Given the description of an element on the screen output the (x, y) to click on. 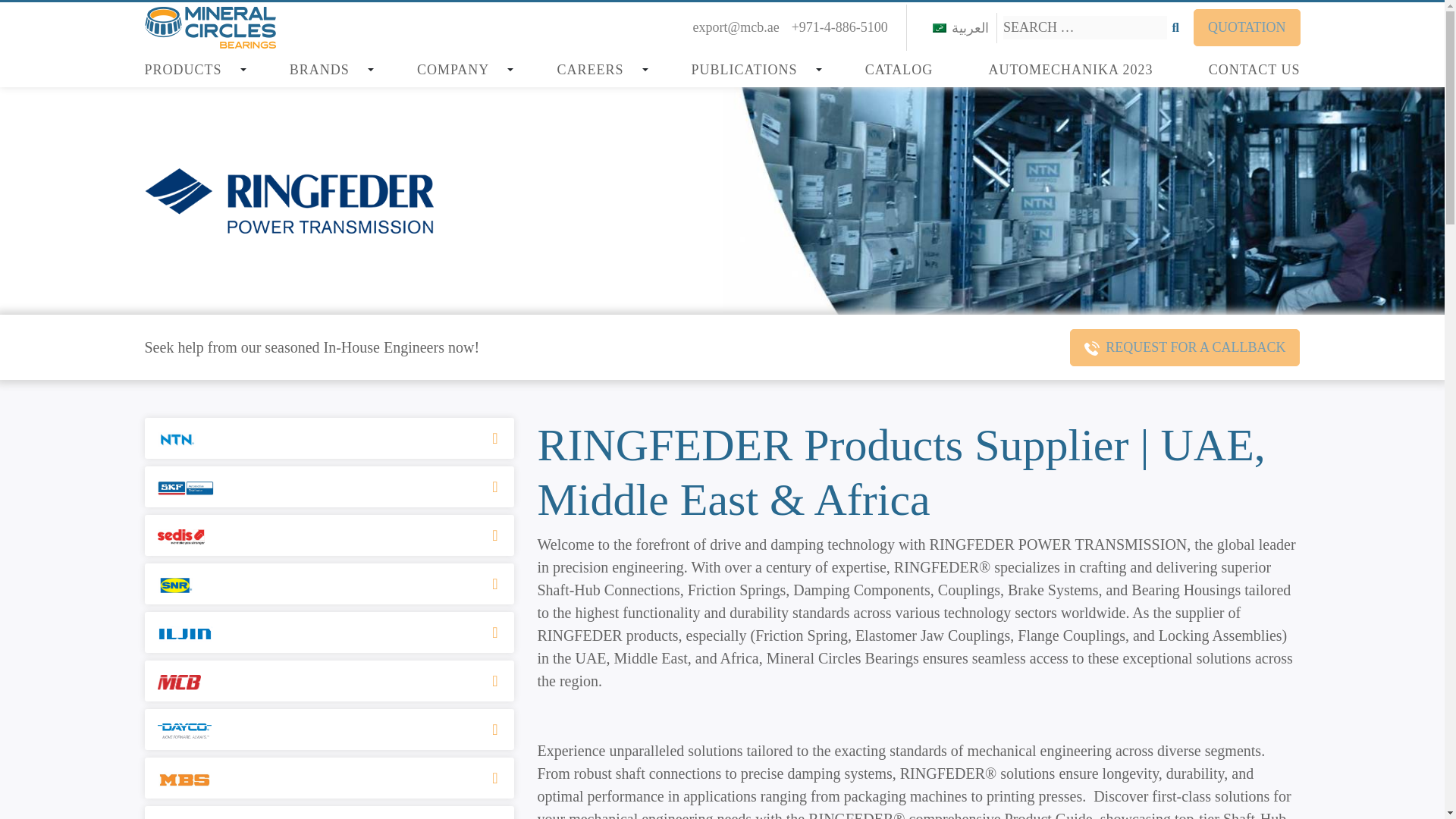
BRANDS (325, 69)
PRODUCTS (188, 69)
COMPANY (458, 69)
QUOTATION (1246, 27)
